Given the description of an element on the screen output the (x, y) to click on. 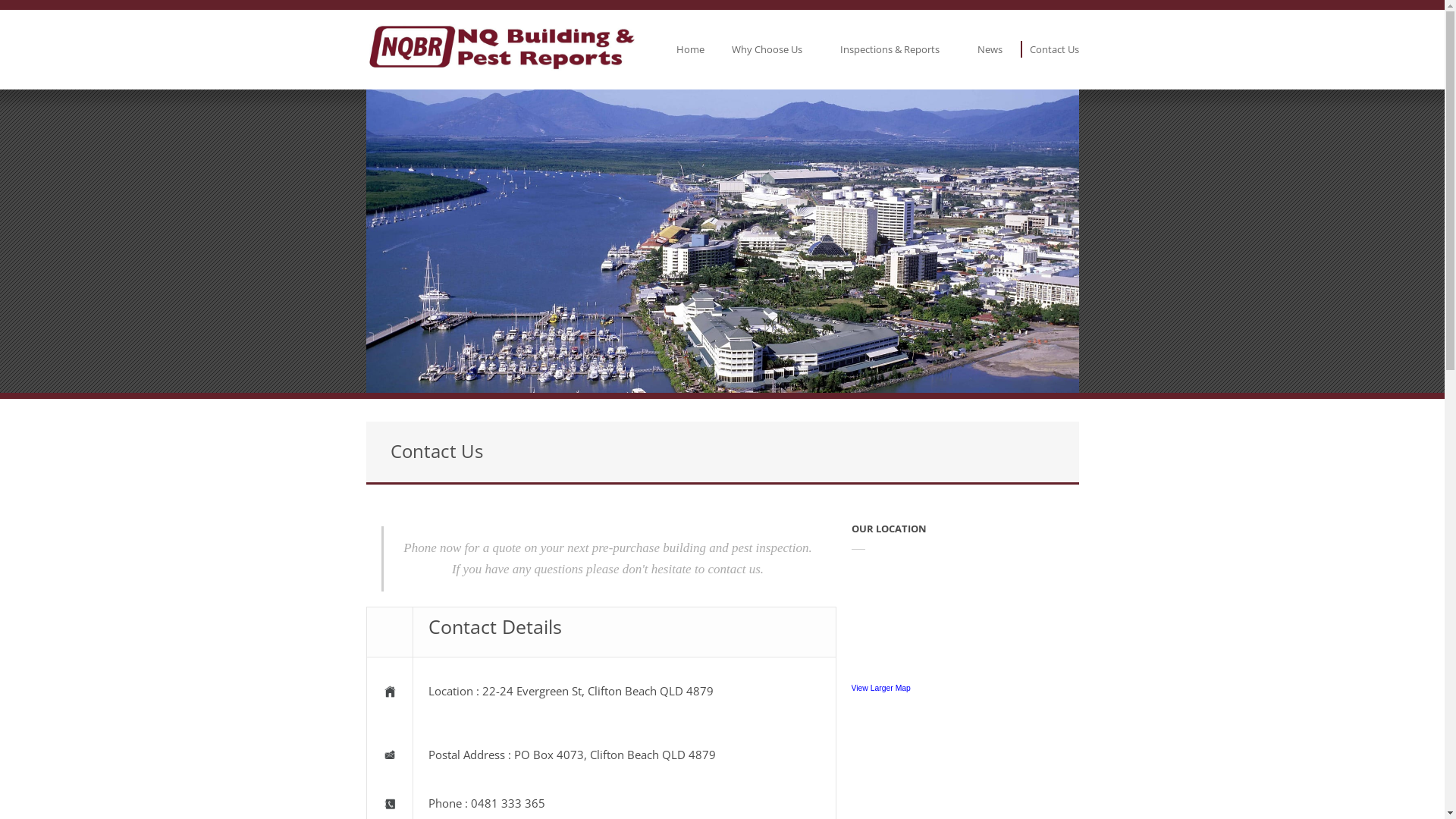
Home Element type: text (689, 48)
View Larger Map Element type: text (880, 688)
Contact Us Element type: text (1053, 48)
News Element type: text (988, 48)
